Given the description of an element on the screen output the (x, y) to click on. 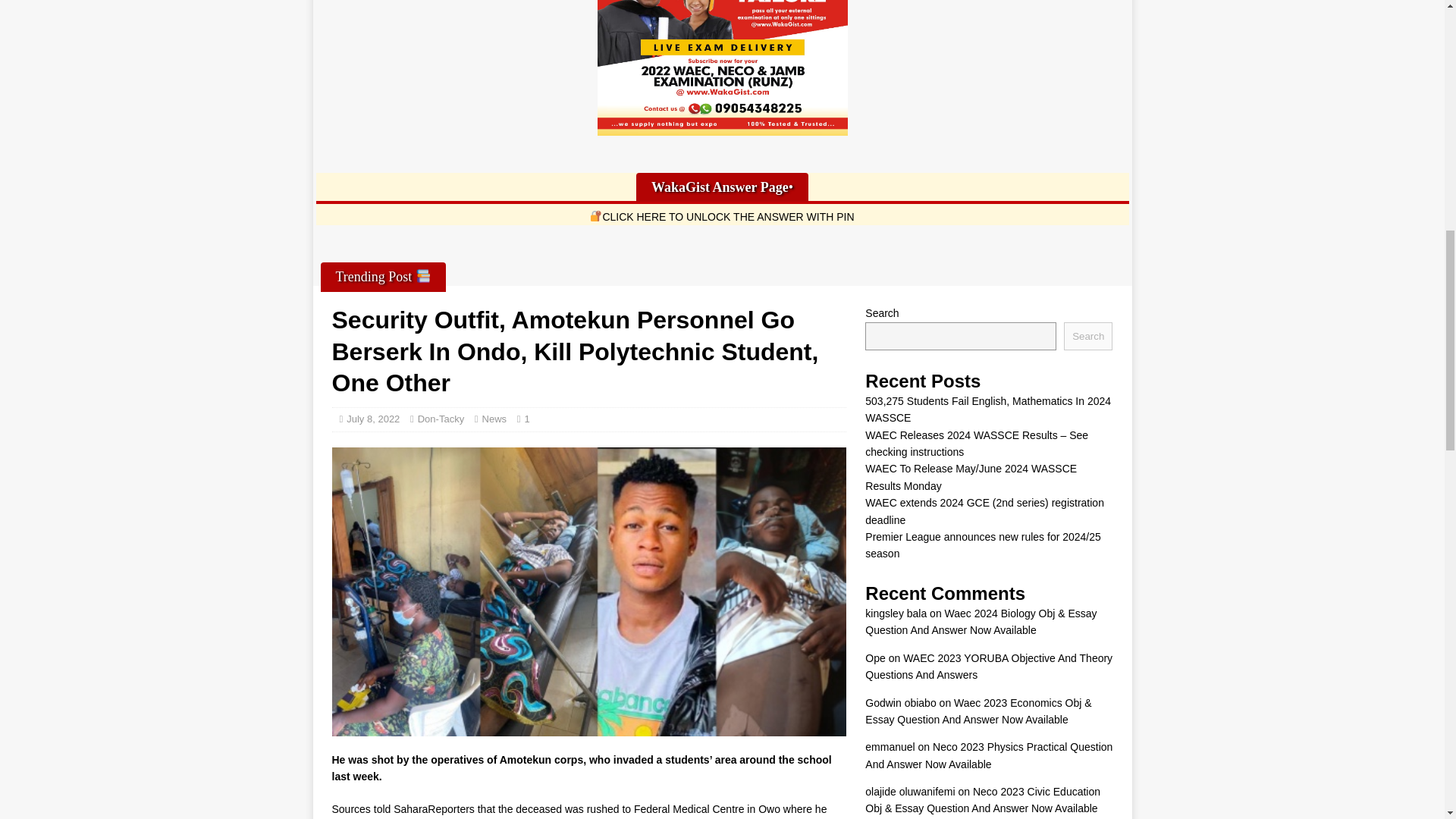
July 8, 2022 (372, 419)
Search (1088, 335)
503,275 Students Fail English, Mathematics In 2024 WASSCE (987, 409)
News (493, 419)
CLICK HERE TO UNLOCK THE ANSWER WITH PIN (721, 216)
Don-Tacky (440, 419)
wakagist (721, 67)
